Given the description of an element on the screen output the (x, y) to click on. 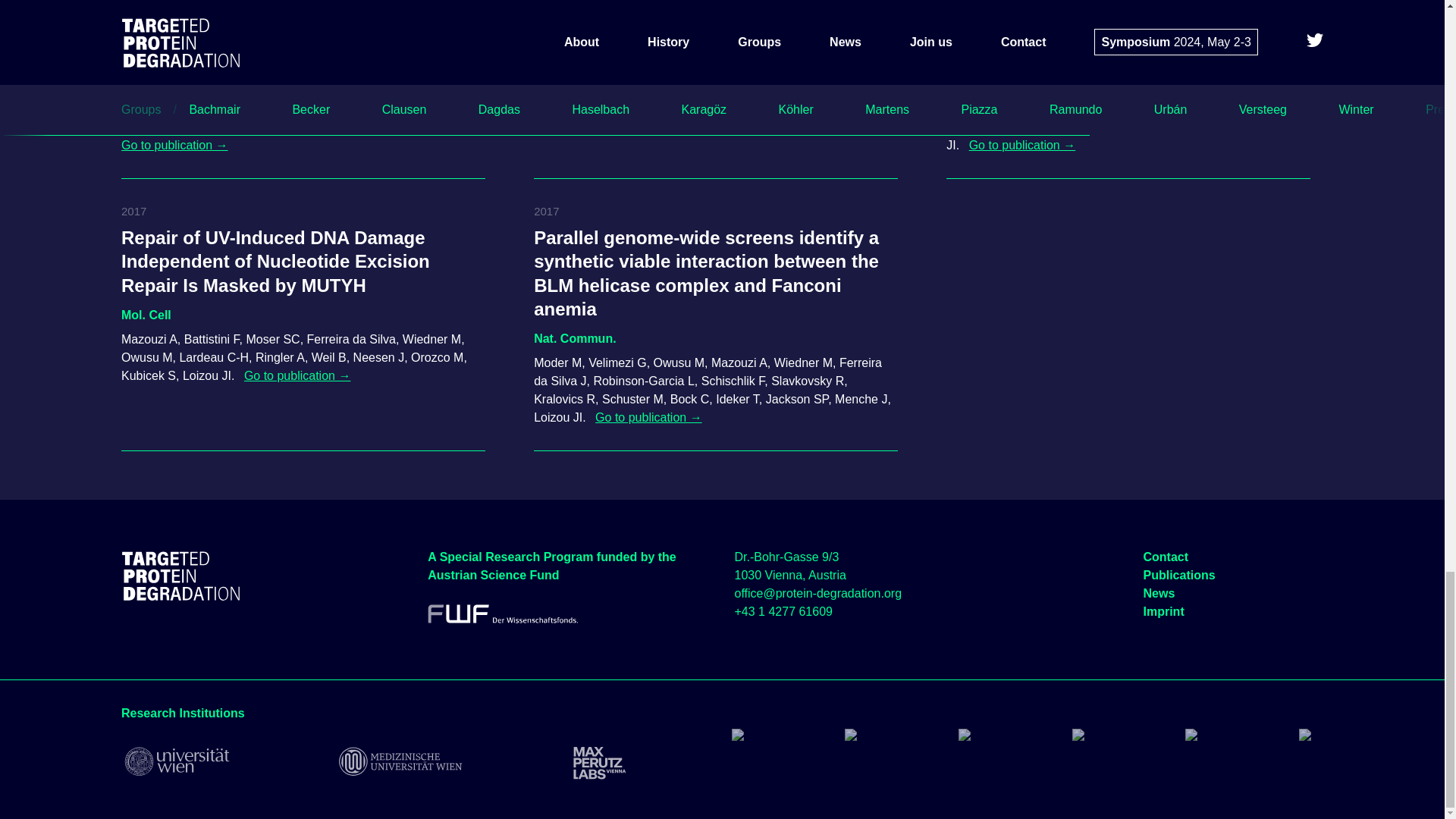
Publications (1178, 574)
Contact (1165, 556)
Imprint (1163, 611)
News (1158, 593)
